Given the description of an element on the screen output the (x, y) to click on. 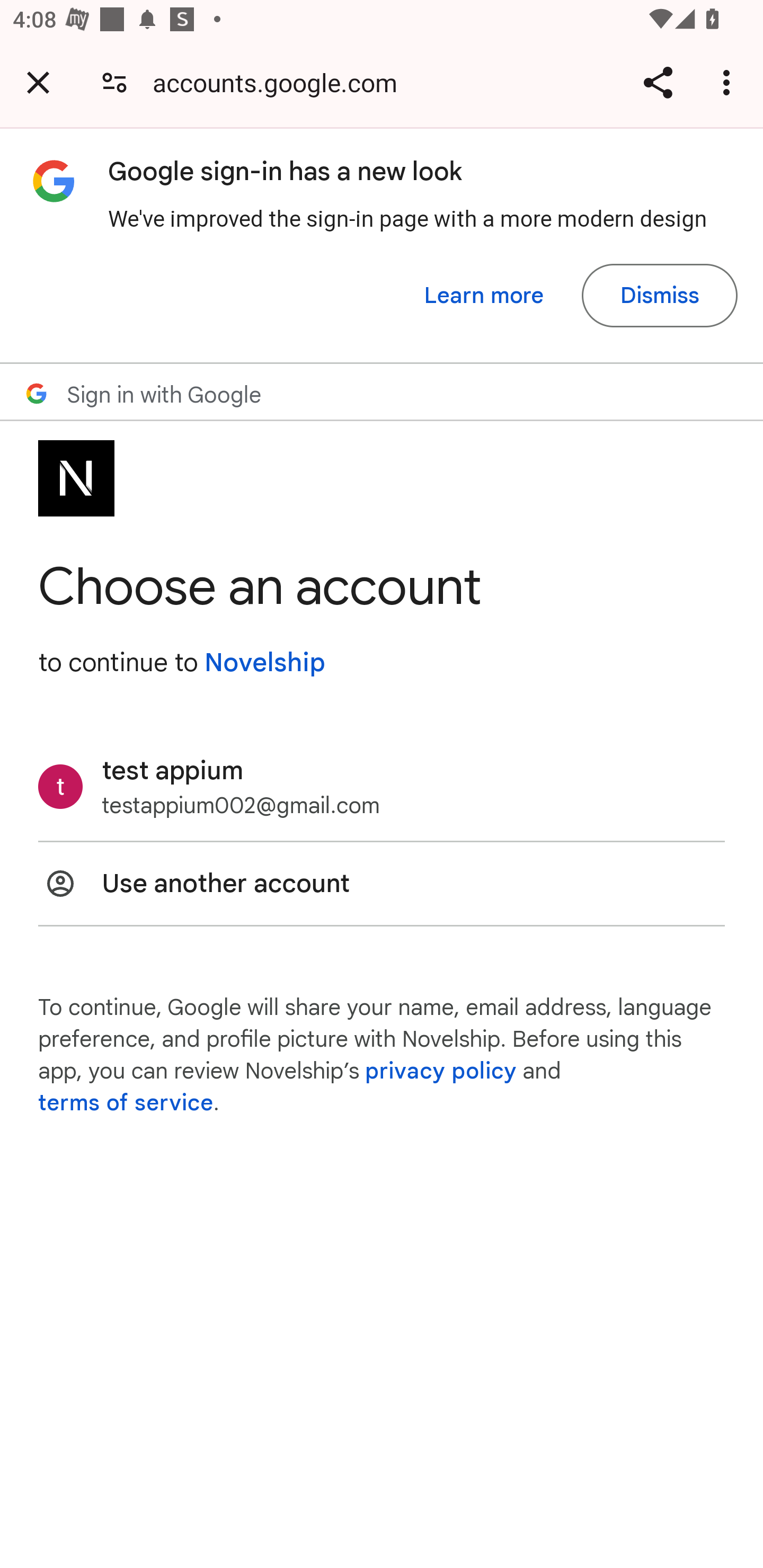
Close tab (38, 82)
Share (657, 82)
Customize and control Google Chrome (729, 82)
Connection is secure (114, 81)
accounts.google.com (281, 81)
Learn more (483, 295)
Dismiss (659, 295)
Novelship (264, 662)
Use another account (381, 883)
privacy policy (440, 1070)
terms of service (126, 1102)
